Given the description of an element on the screen output the (x, y) to click on. 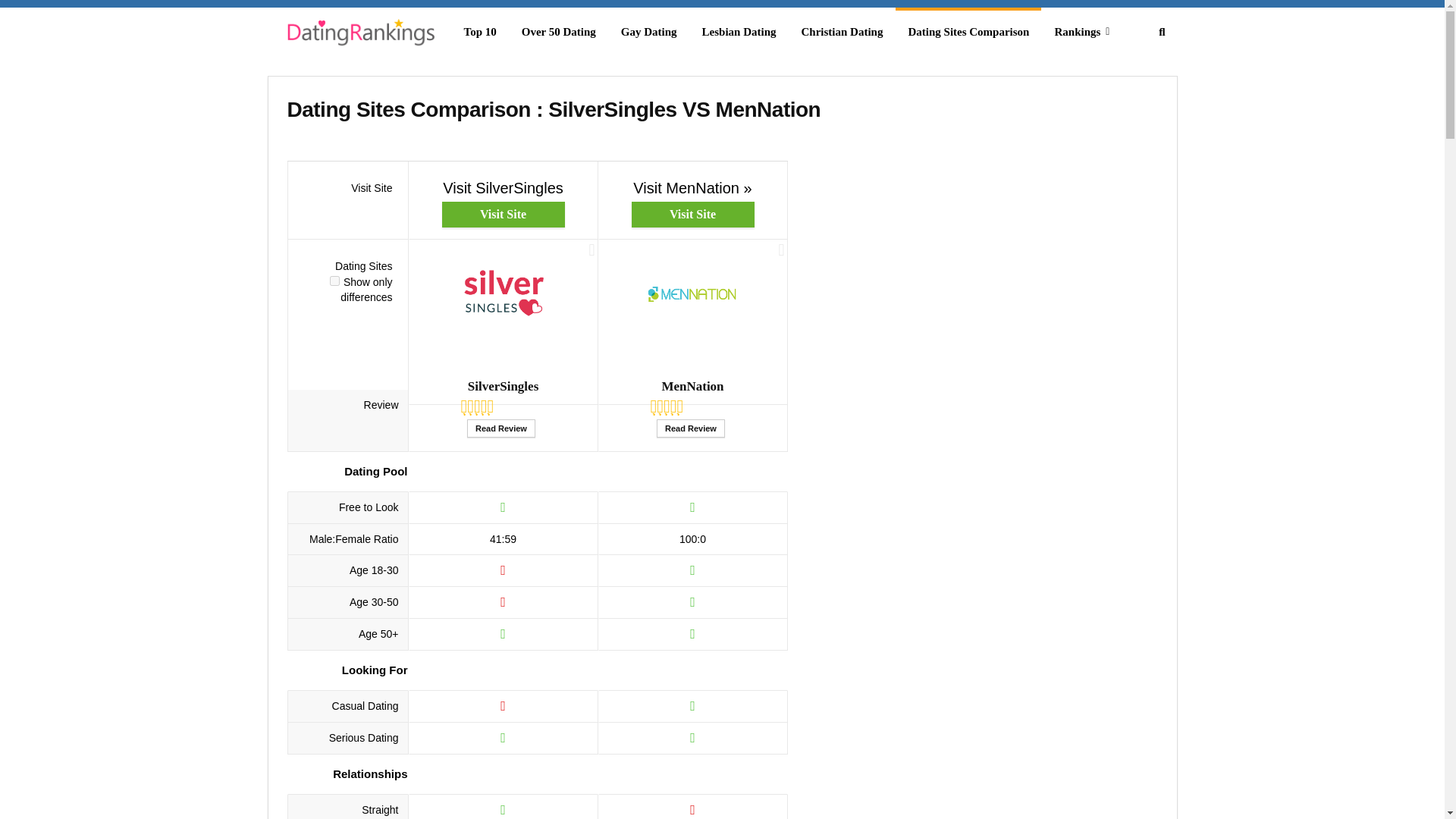
Top 10 Best Online Dating Sites Rankings (357, 35)
Christian Dating (842, 31)
Rankings (1081, 31)
SilverSingles Review (501, 428)
MenNation Review (690, 428)
on (334, 280)
Over 50 Dating (558, 31)
Lesbian Dating (739, 31)
Top 10 (479, 31)
Dating Sites Comparison (968, 31)
